Given the description of an element on the screen output the (x, y) to click on. 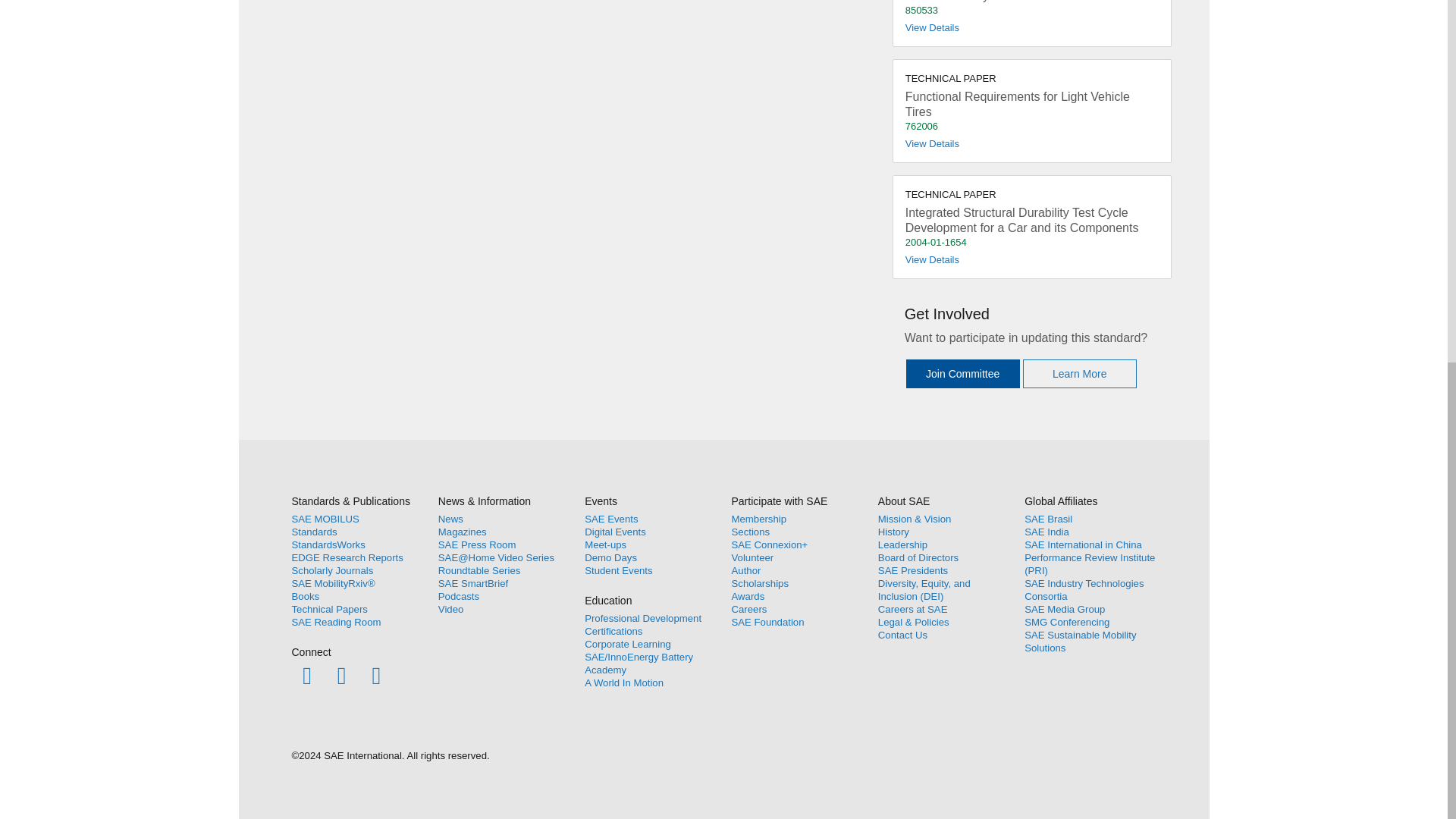
LinkedIn (376, 675)
Twitter (341, 675)
Facebook (306, 675)
